Given the description of an element on the screen output the (x, y) to click on. 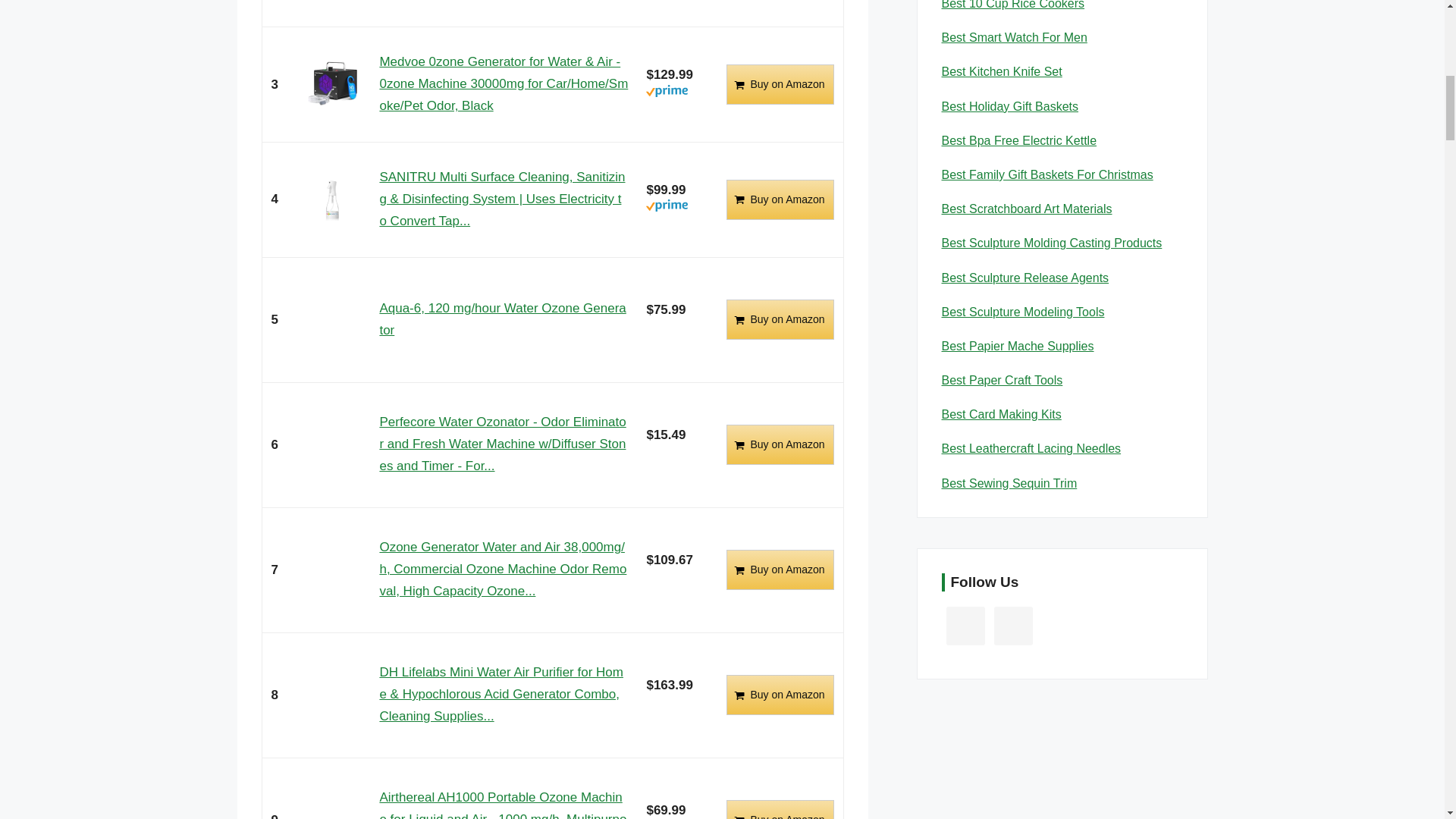
Buy on Amazon (779, 319)
Amazon Prime (666, 93)
Buy on Amazon (779, 84)
Buy on Amazon (779, 199)
Buy on Amazon (779, 199)
Buy on Amazon (779, 445)
Amazon Prime (666, 208)
Buy on Amazon (779, 84)
